Given the description of an element on the screen output the (x, y) to click on. 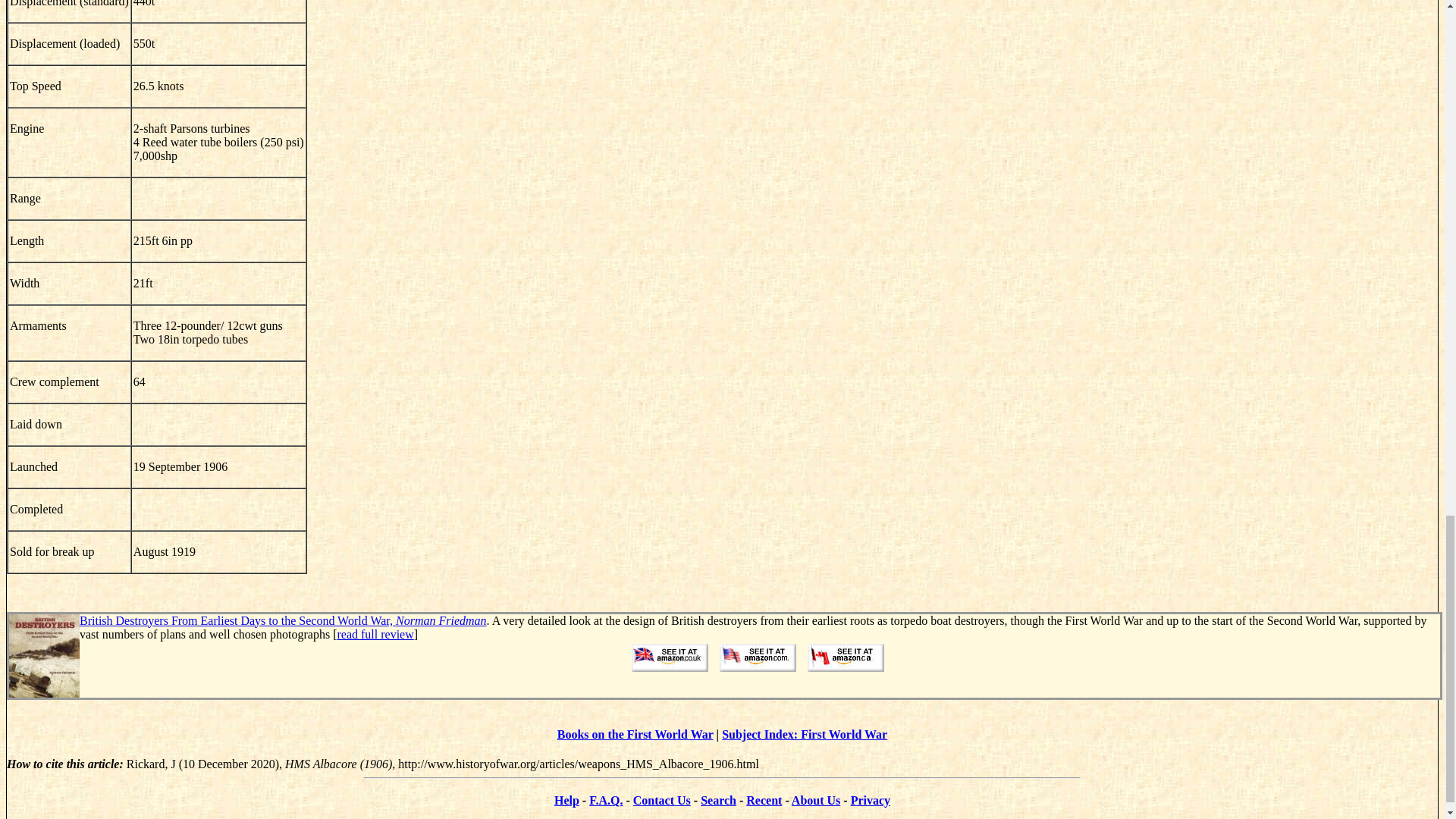
Privacy (869, 799)
Search (718, 799)
F.A.Q. (606, 799)
Books on the First World War (635, 734)
About Us (816, 799)
Recent (763, 799)
Contact Us (661, 799)
read full review (374, 634)
Help (566, 799)
